Given the description of an element on the screen output the (x, y) to click on. 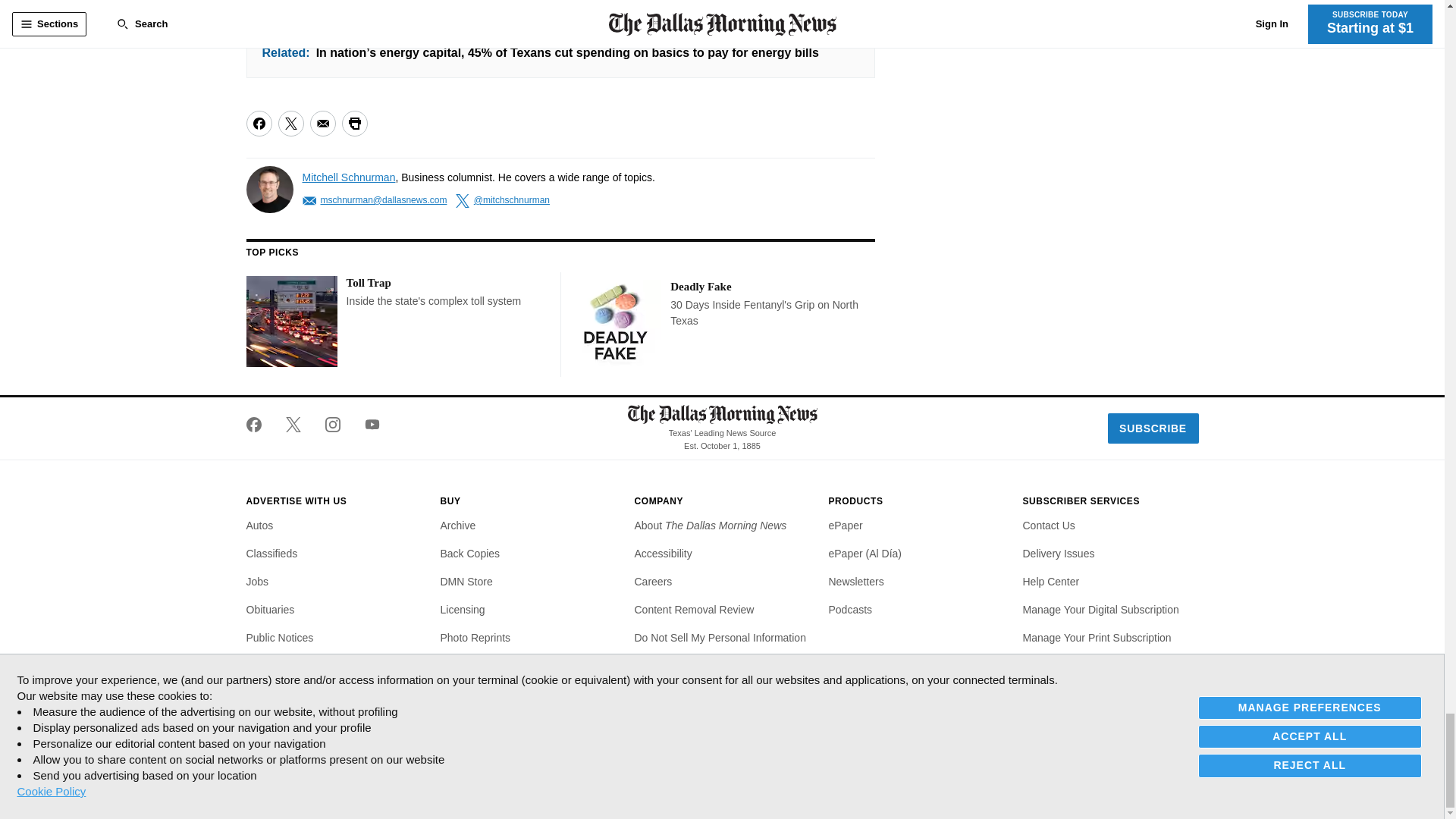
The Dallas Morning News on Facebook (259, 424)
Share via Email (321, 123)
Share on Twitter (290, 123)
Print (353, 123)
The Dallas Morning News on YouTube (365, 424)
The Dallas Morning News on Twitter (293, 424)
The Dallas Morning News on Instagram (332, 424)
Share on Facebook (258, 123)
